Given the description of an element on the screen output the (x, y) to click on. 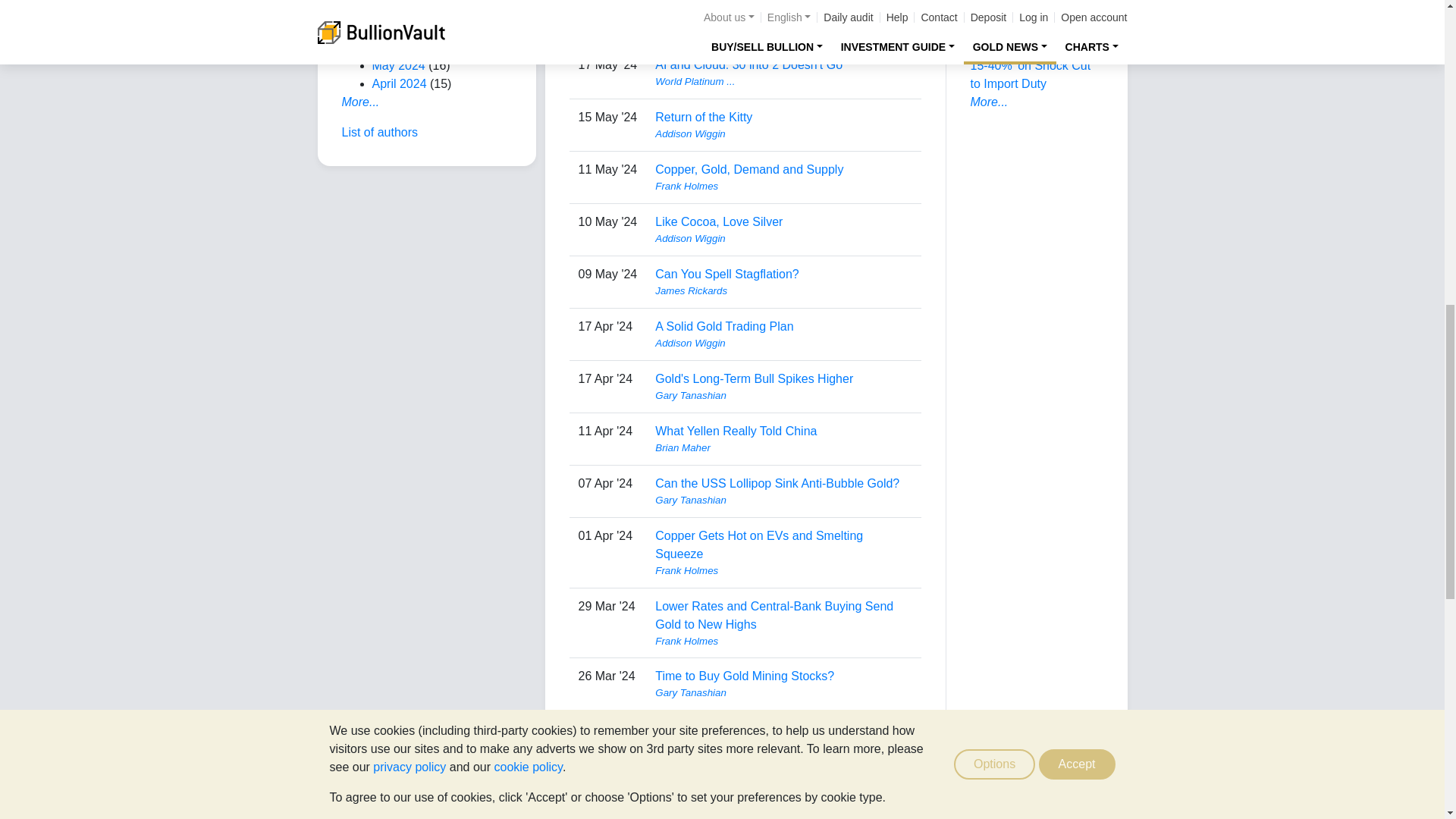
View user profile. (783, 29)
